Given the description of an element on the screen output the (x, y) to click on. 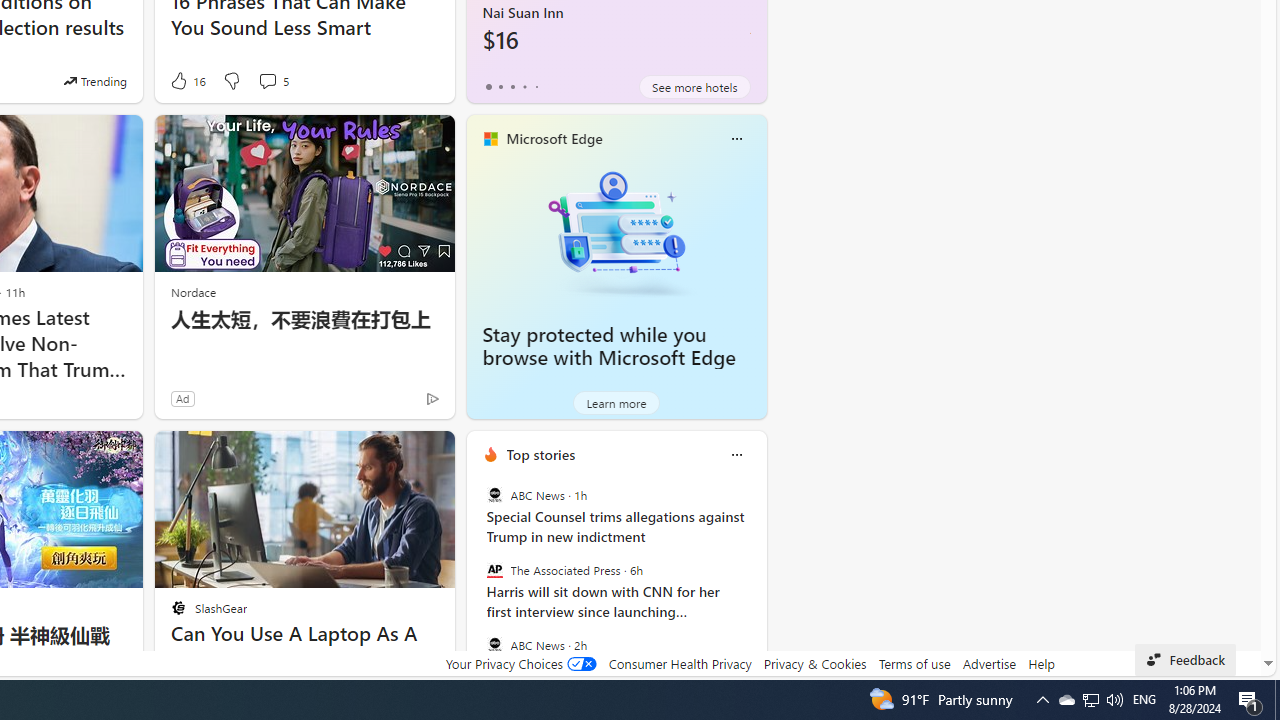
Your Privacy Choices (520, 663)
Consumer Health Privacy (680, 663)
View comments 5 Comment (267, 80)
tab-2 (511, 86)
View comments 5 Comment (272, 80)
Stay protected while you browse with Microsoft Edge (609, 346)
The Associated Press (494, 570)
ABC News (494, 644)
tab-4 (535, 86)
Help (1040, 663)
tab-0 (488, 86)
